Given the description of an element on the screen output the (x, y) to click on. 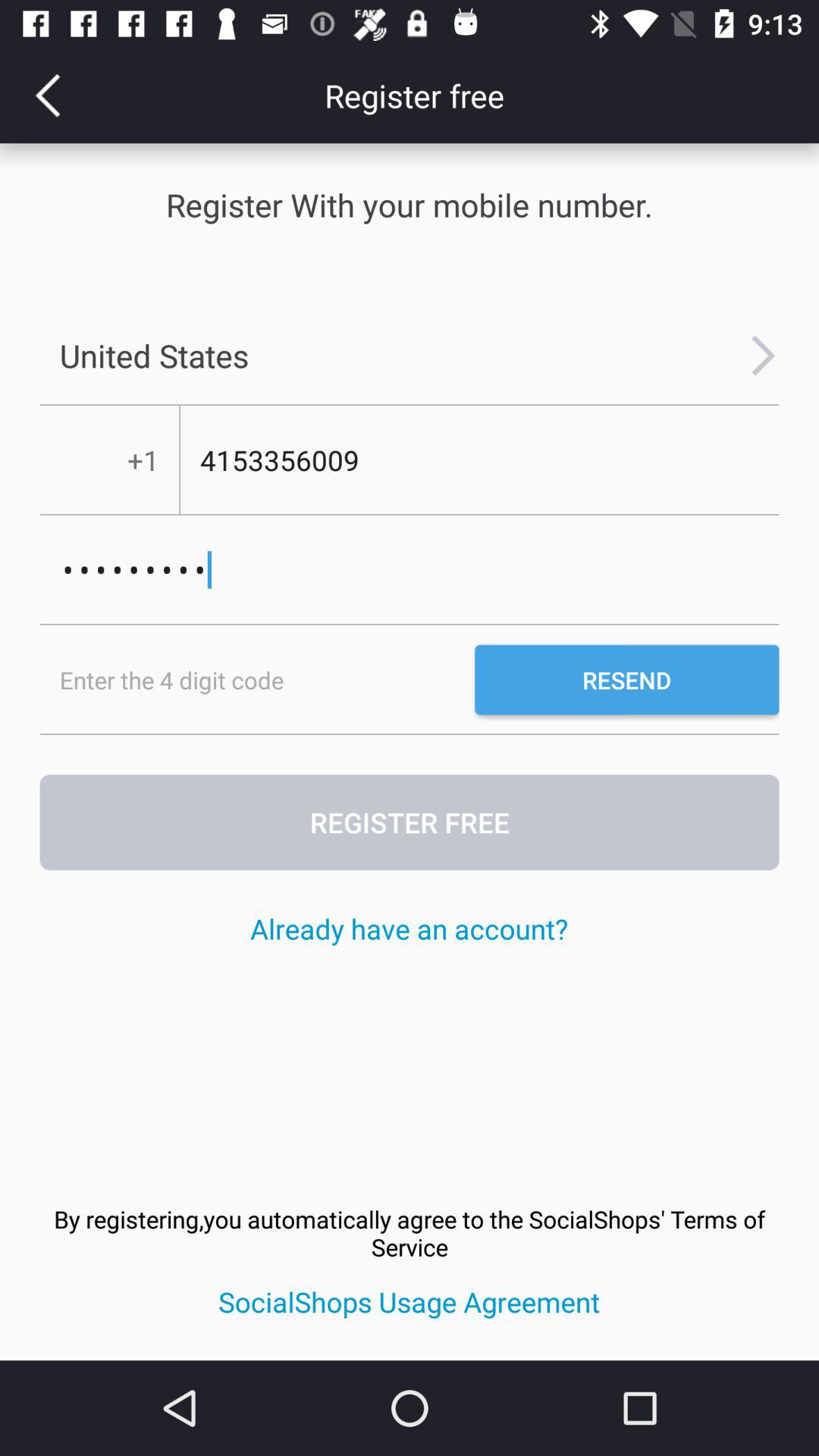
go to already have an account (409, 928)
select right scroll button (763, 355)
select the number which is below the united states (479, 460)
